Given the description of an element on the screen output the (x, y) to click on. 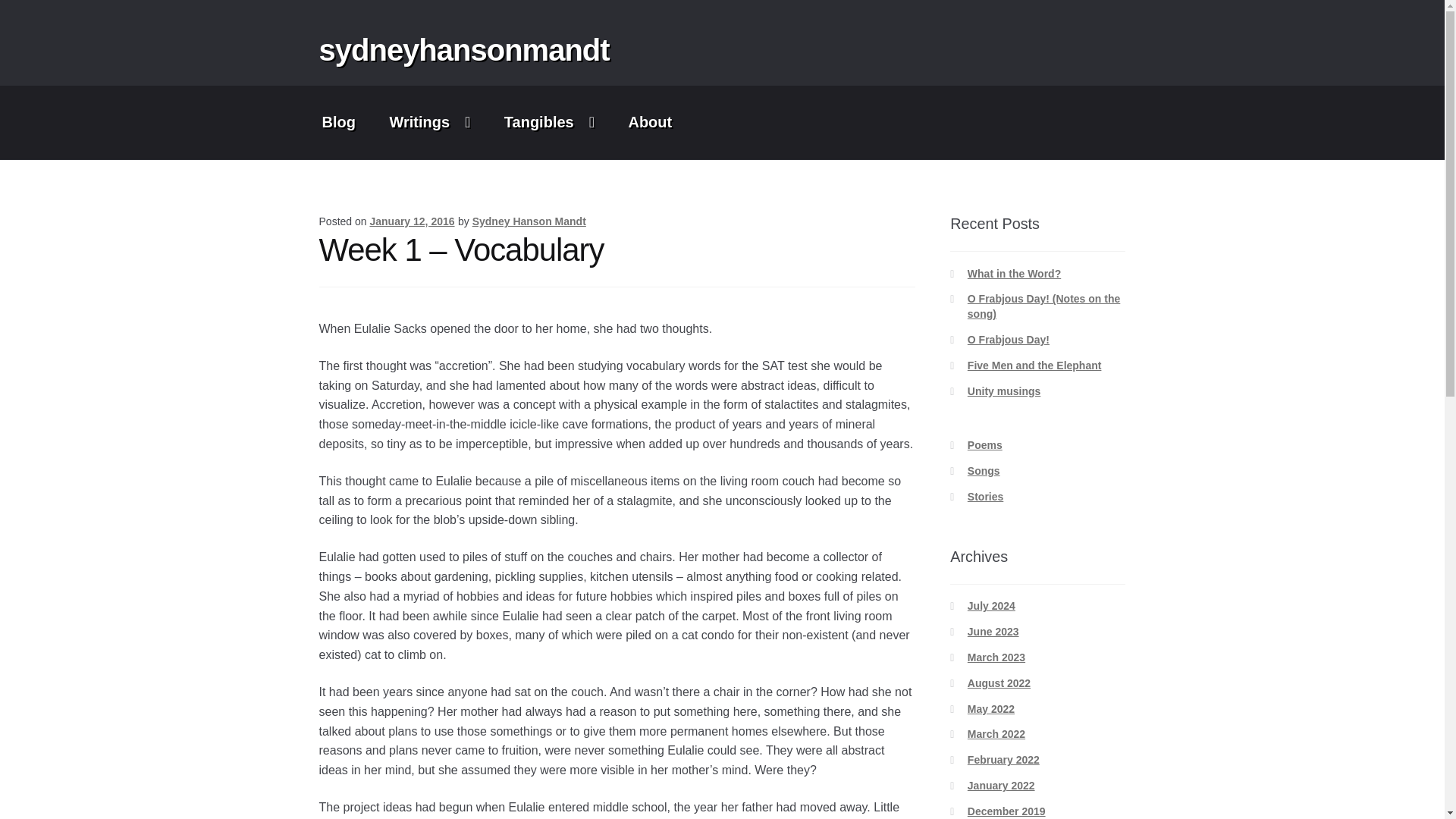
Tangibles (549, 121)
O Frabjous Day! (1008, 339)
Five Men and the Elephant (1035, 365)
Writings (429, 121)
sydneyhansonmandt (464, 49)
About (649, 121)
What in the Word? (1014, 273)
Sydney Hanson Mandt (528, 221)
Unity musings (1004, 390)
